Given the description of an element on the screen output the (x, y) to click on. 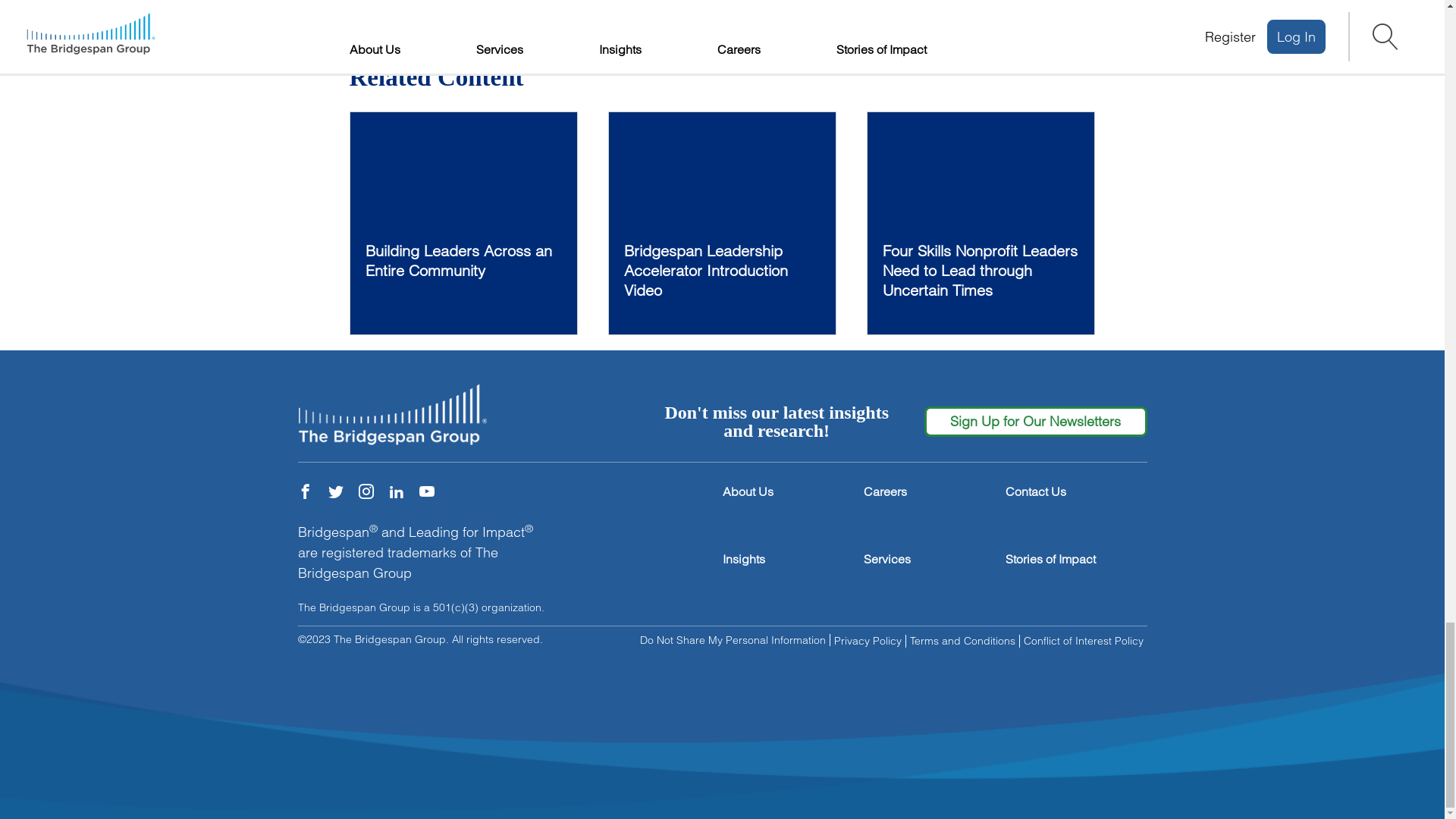
Bridgespan Leadership Accelerator Introduction Video (721, 222)
Building Leaders Across an Entire Community (462, 222)
